Given the description of an element on the screen output the (x, y) to click on. 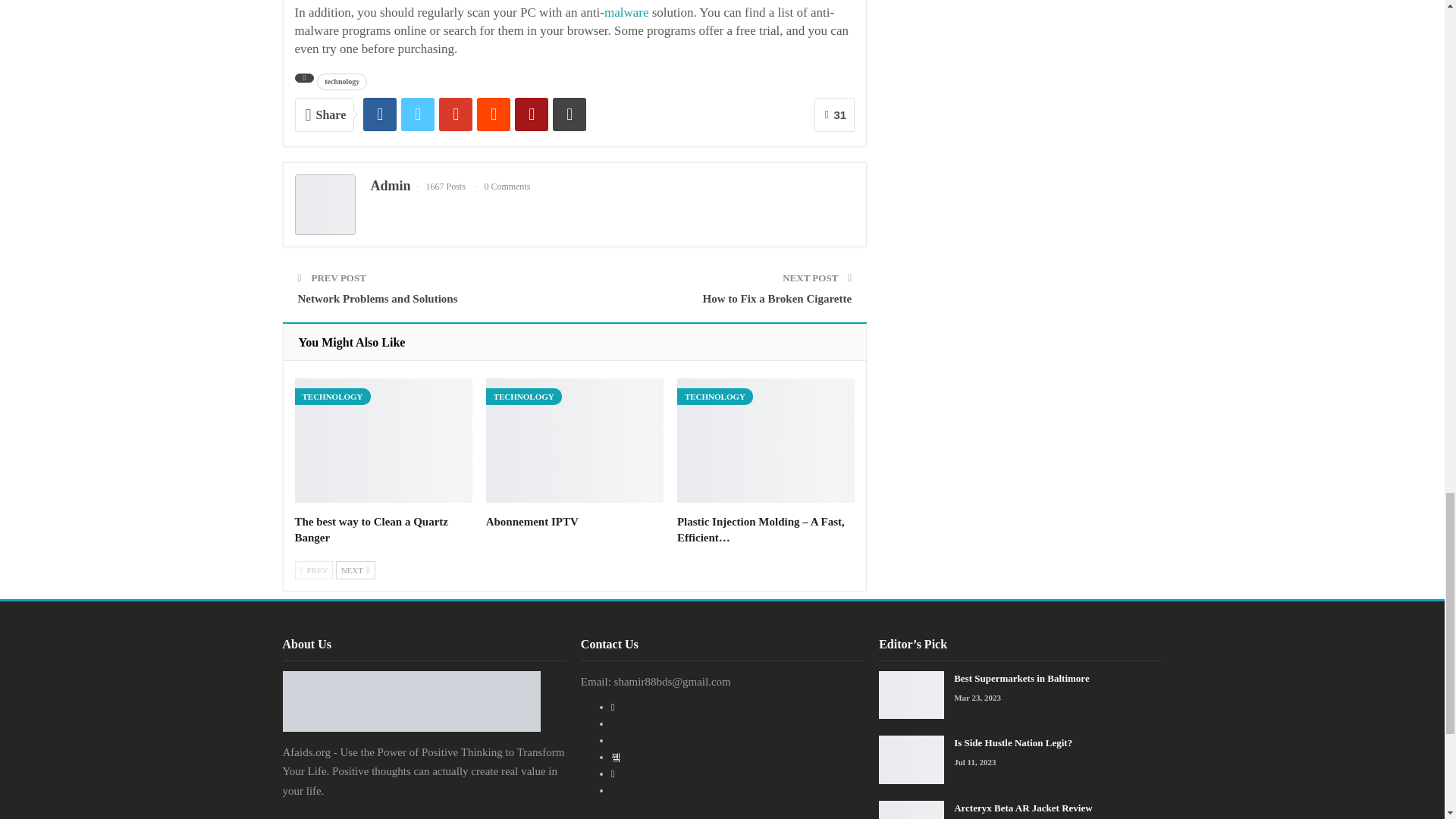
The best way to Clean a Quartz Banger (371, 529)
The best way to Clean a Quartz Banger (382, 440)
Abonnement IPTV (532, 521)
Abonnement IPTV (574, 440)
